Given the description of an element on the screen output the (x, y) to click on. 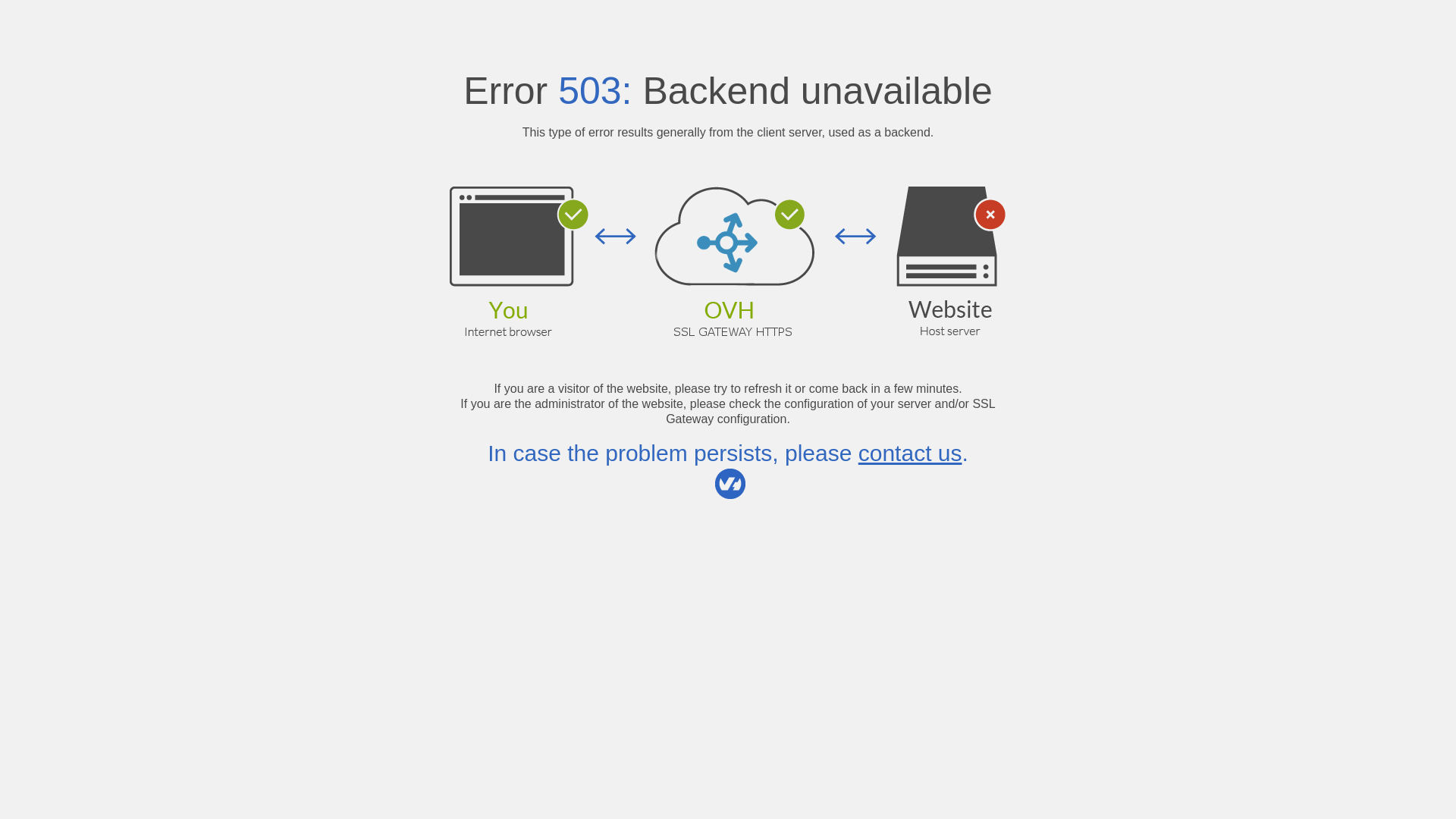
contact us Element type: text (910, 452)
